Given the description of an element on the screen output the (x, y) to click on. 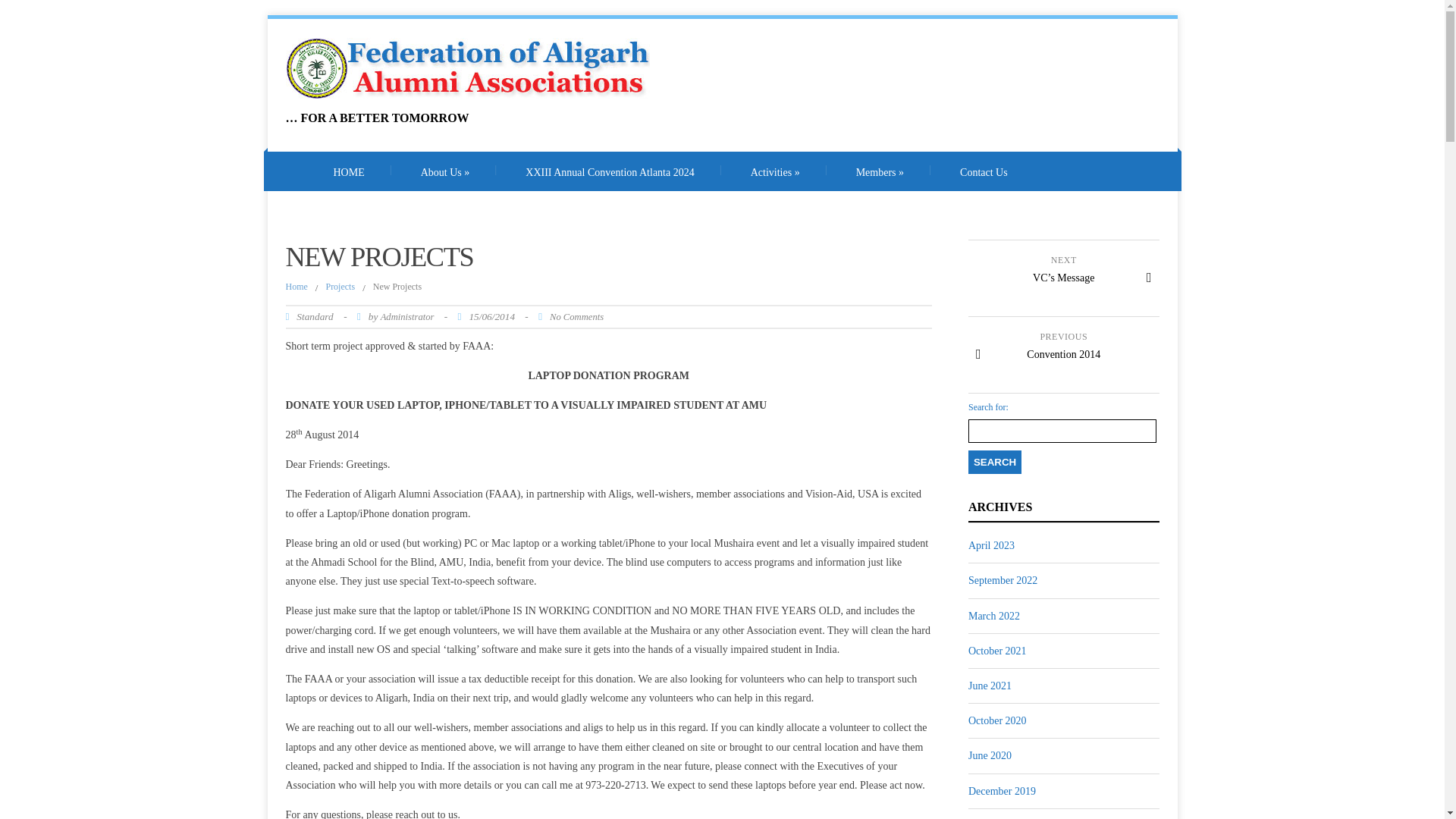
HOME (347, 170)
XXIII Annual Convention Atlanta 2024 (609, 170)
Search (995, 462)
Posts by Administrator (406, 316)
